Given the description of an element on the screen output the (x, y) to click on. 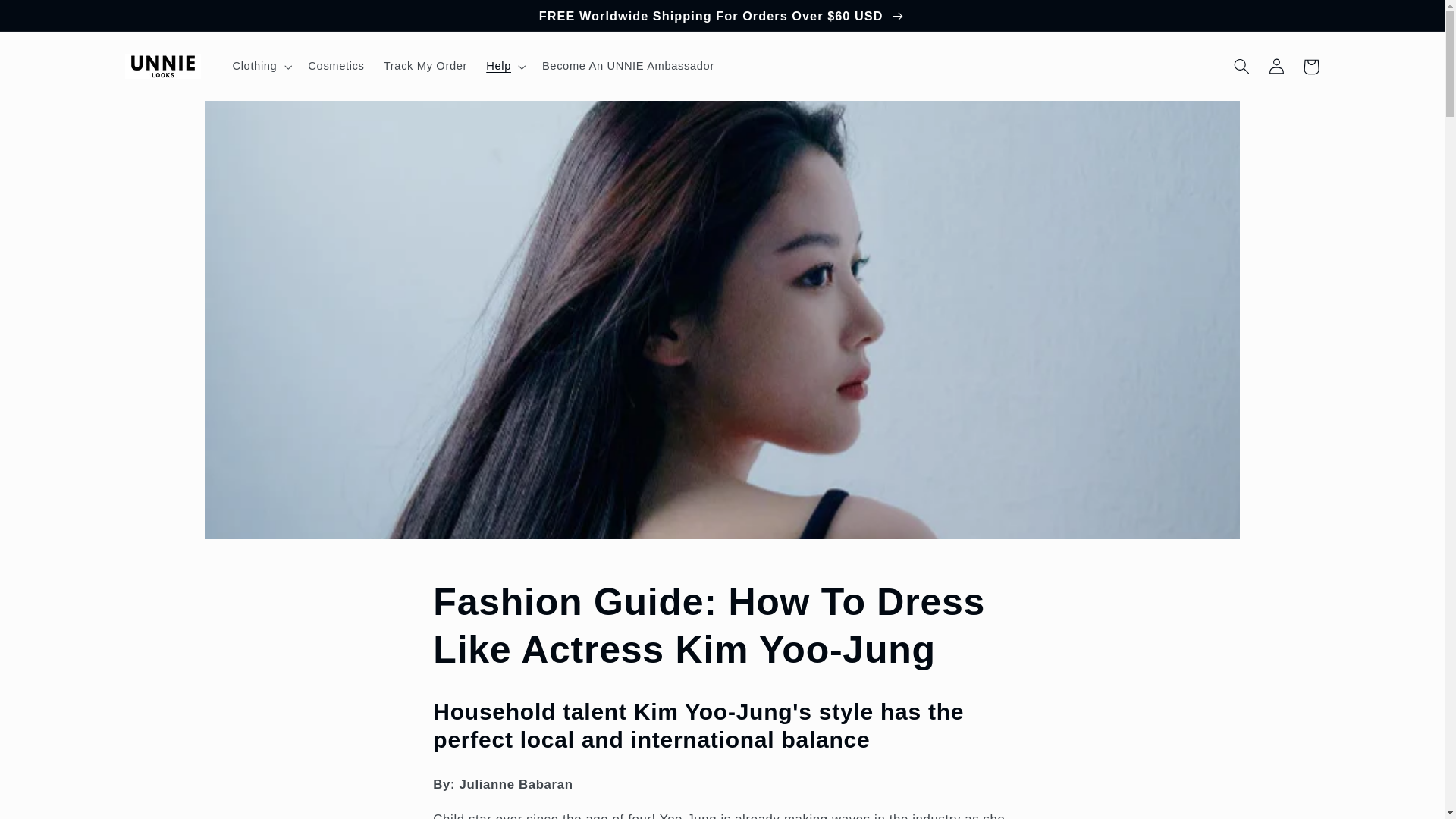
Skip to content (48, 18)
